Given the description of an element on the screen output the (x, y) to click on. 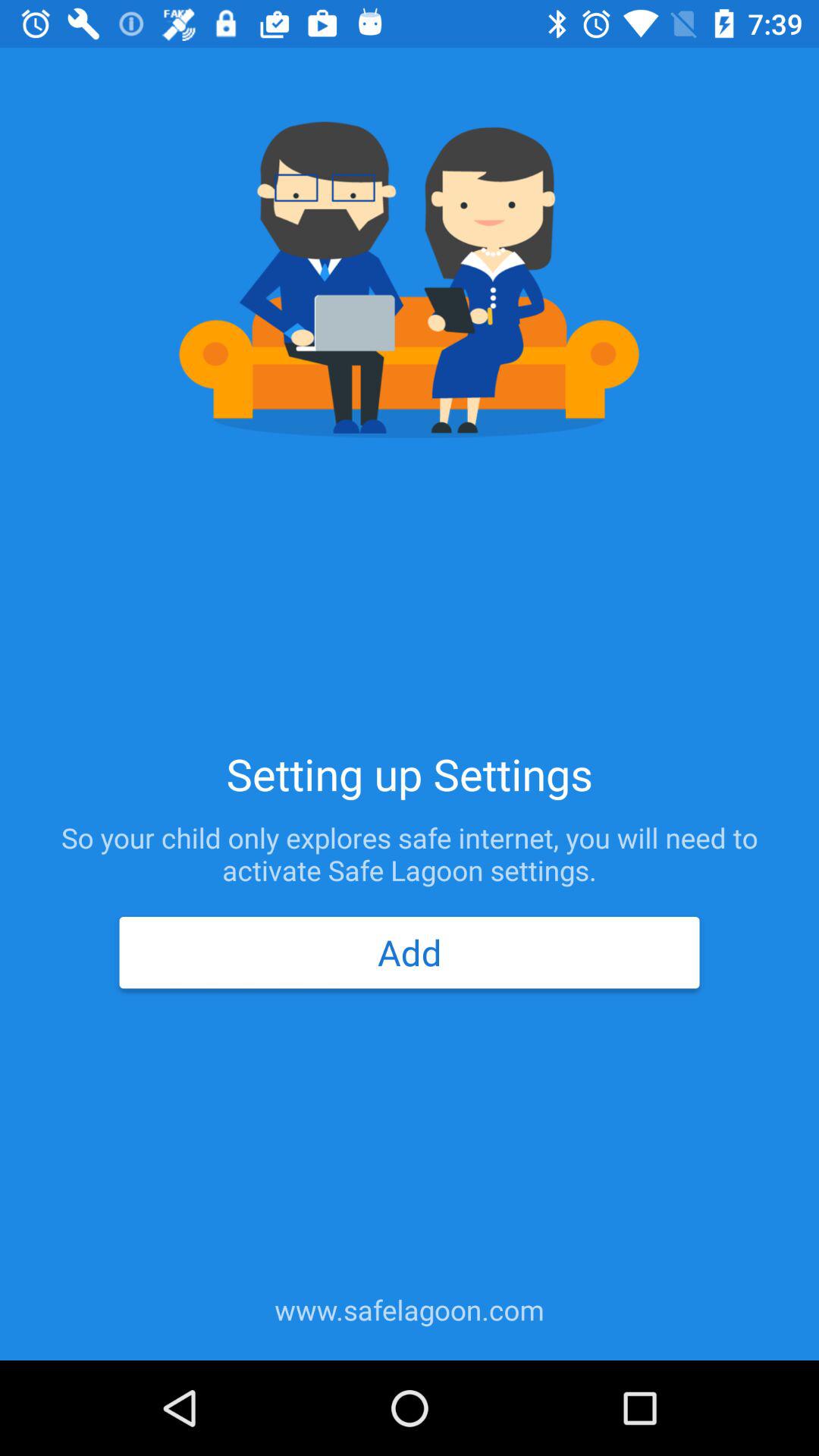
flip until add icon (409, 952)
